Given the description of an element on the screen output the (x, y) to click on. 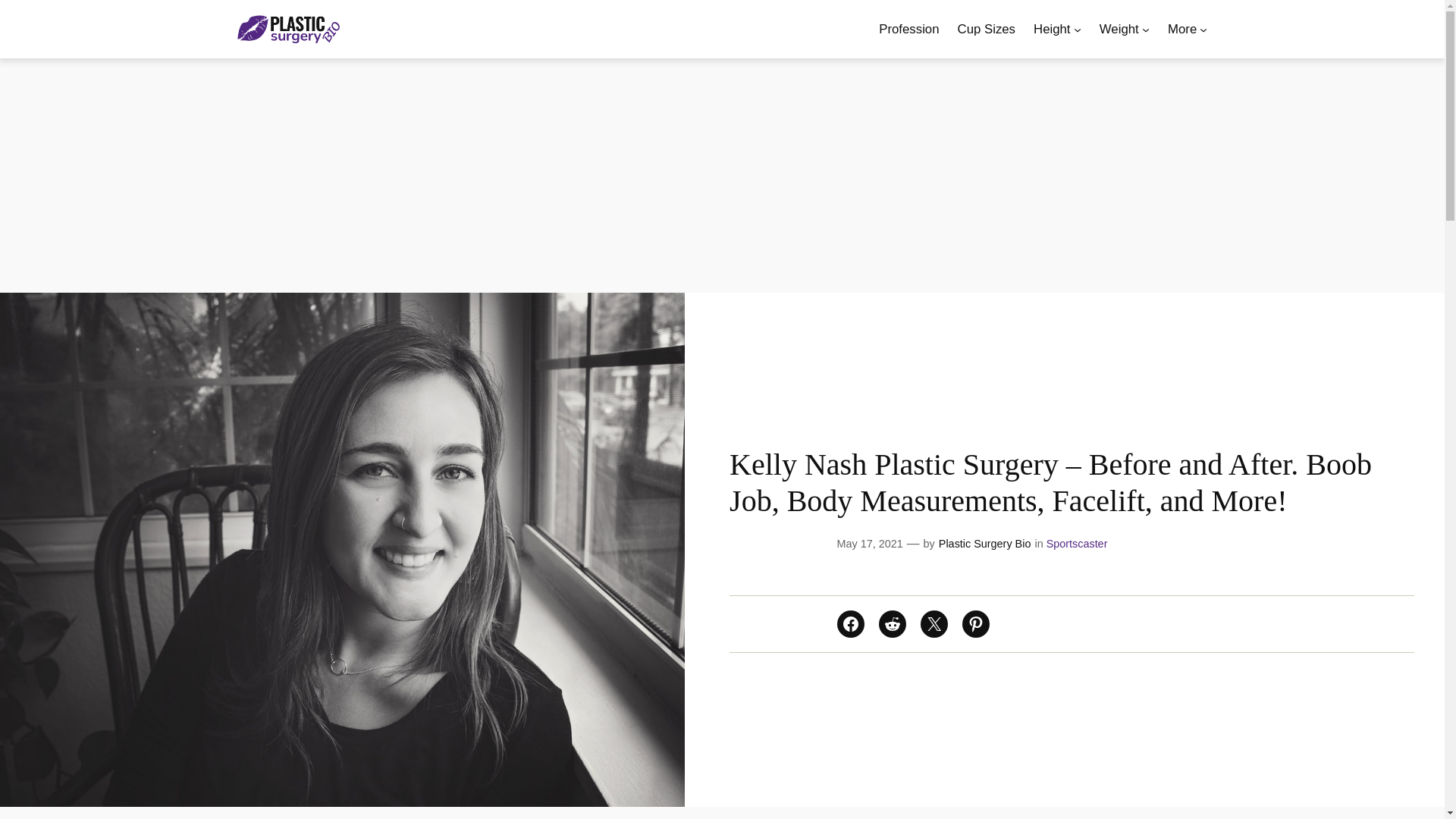
Share on X (933, 624)
Share on Reddit (892, 624)
Share on Facebook (850, 624)
Sportscaster (1077, 543)
Weight (1118, 29)
May 17, 2021 (869, 543)
Cup Sizes (986, 29)
Profession (909, 29)
Share on Pinterest (976, 624)
Plastic Surgery Bio (984, 543)
More (1181, 29)
Height (1051, 29)
